Given the description of an element on the screen output the (x, y) to click on. 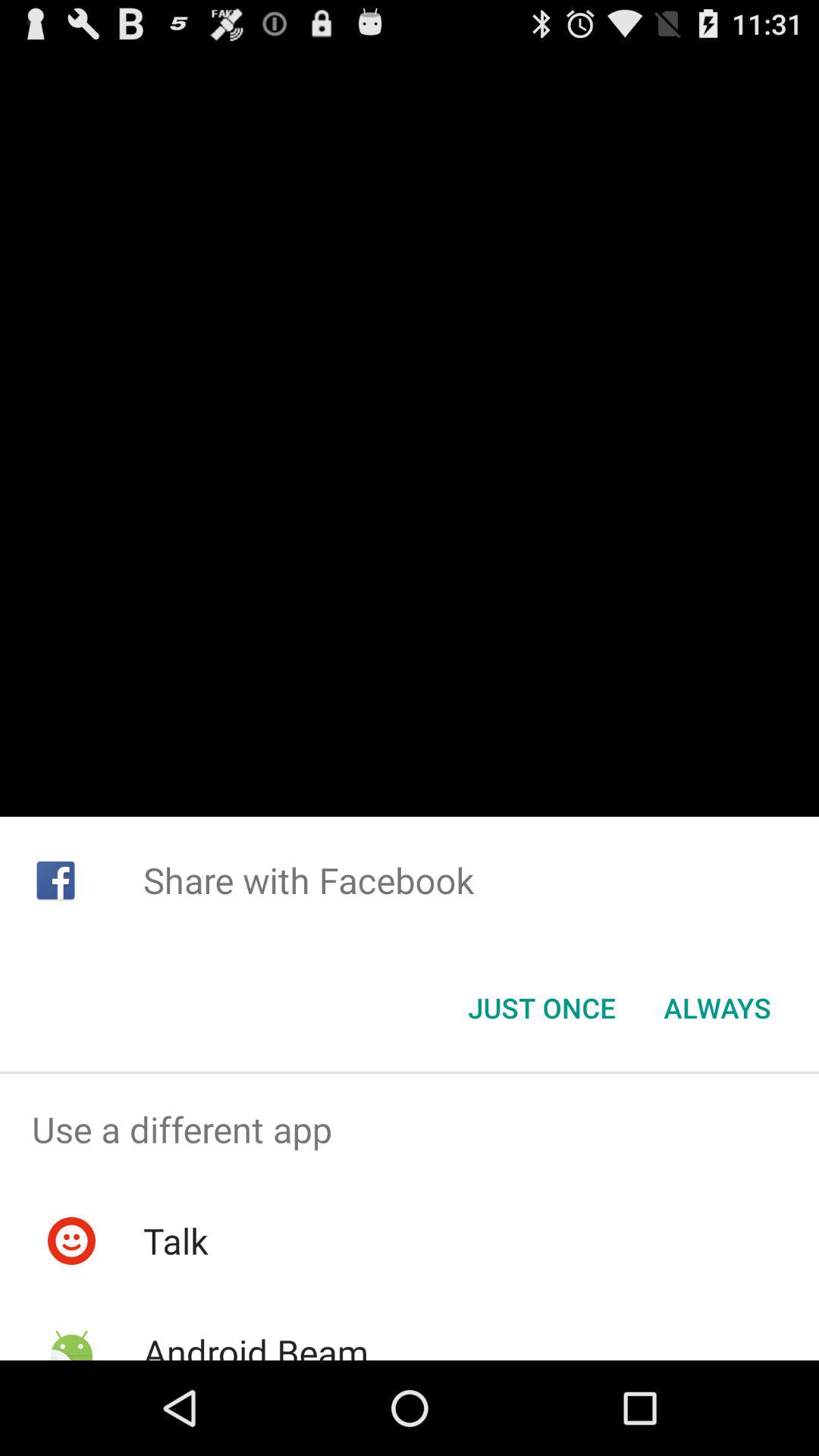
press button next to just once item (717, 1007)
